Given the description of an element on the screen output the (x, y) to click on. 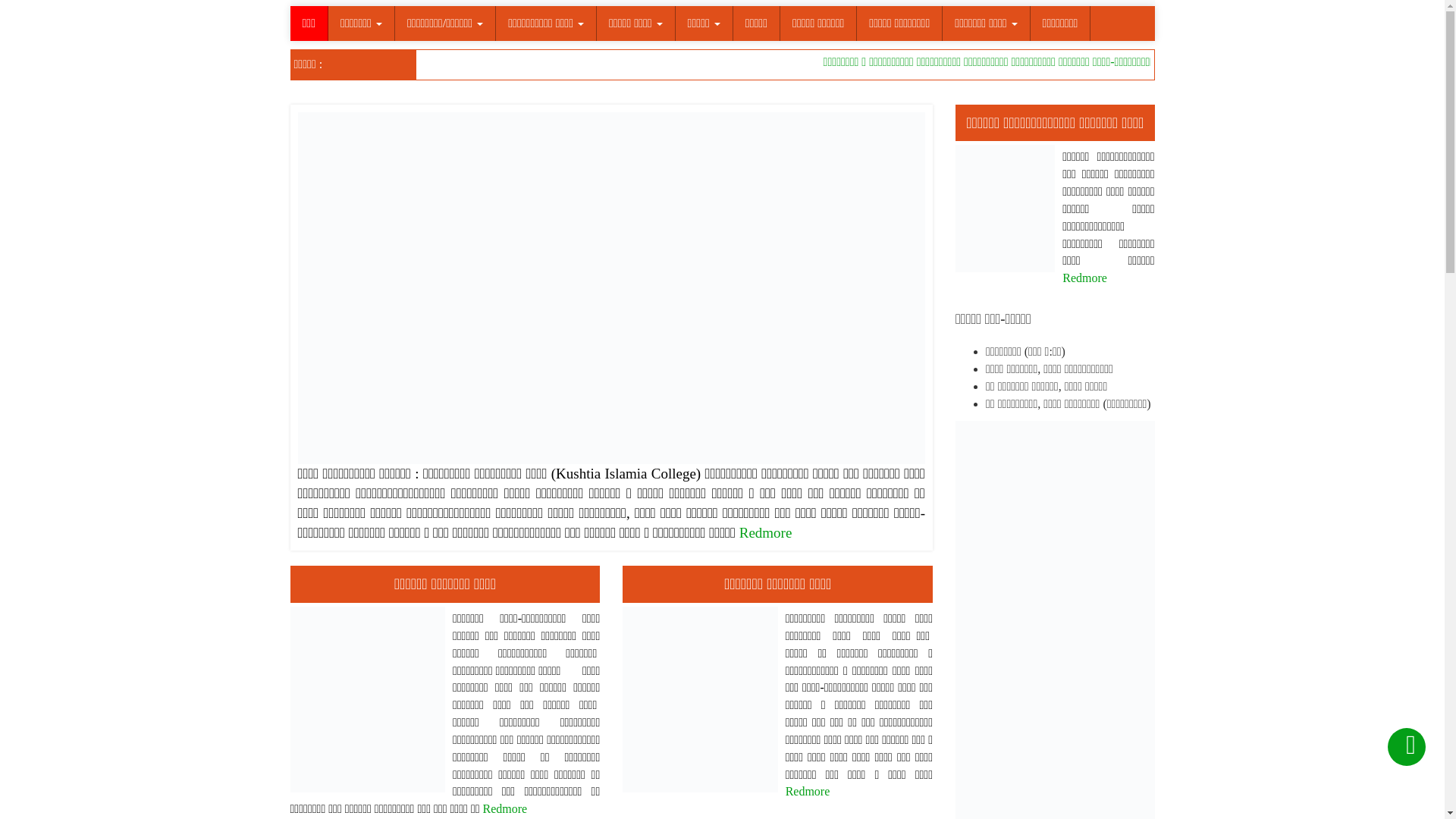
Redmore Element type: text (1084, 277)
Redmore Element type: text (505, 808)
Redmore Element type: text (765, 532)
Redmore Element type: text (807, 790)
